Given the description of an element on the screen output the (x, y) to click on. 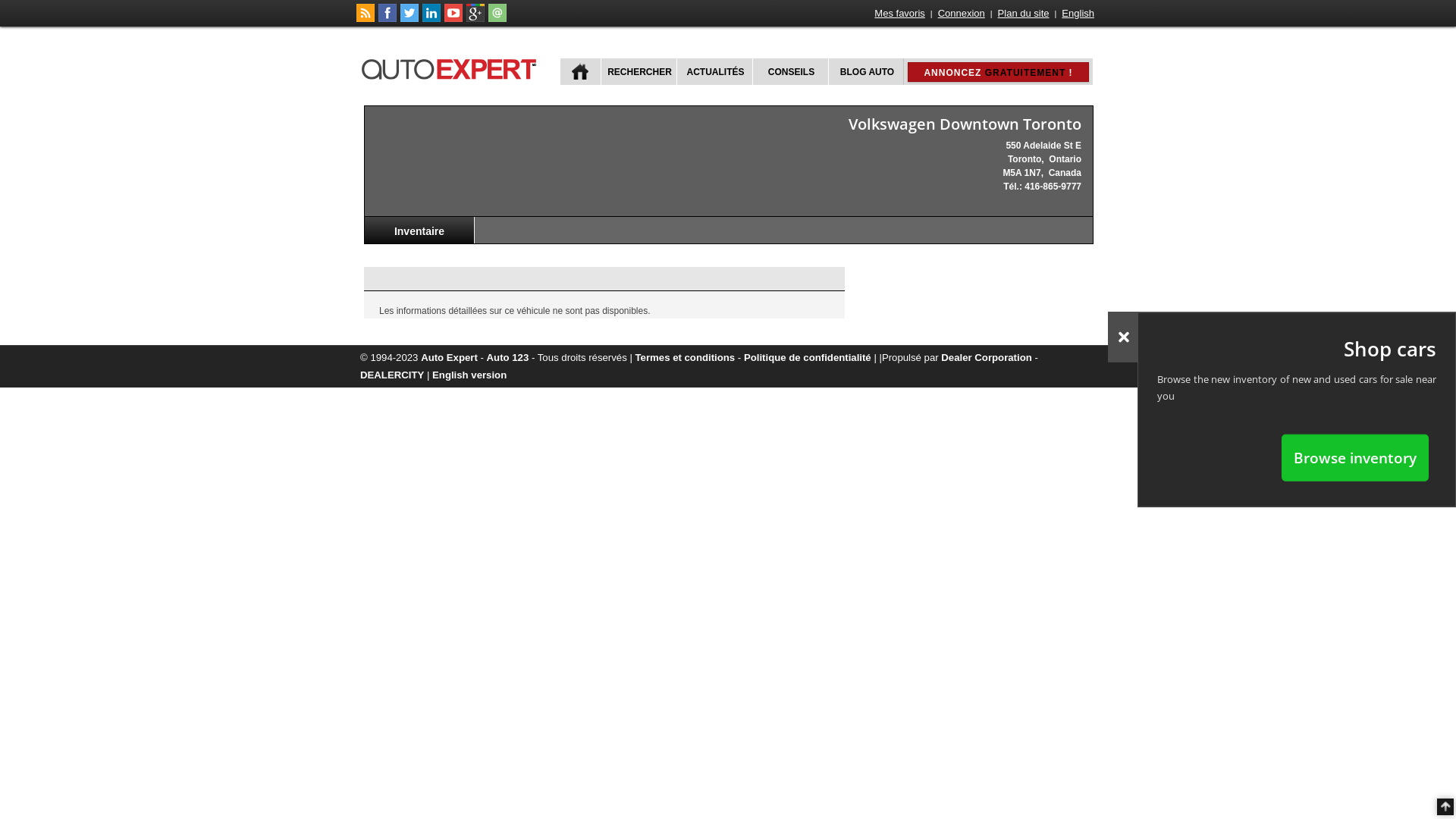
Auto Expert Element type: text (448, 357)
Suivez Publications Le Guide Inc. sur LinkedIn Element type: hover (431, 18)
Suivez autoExpert.ca sur Facebook Element type: hover (387, 18)
BLOG AUTO Element type: text (865, 71)
Dealer Corporation Element type: text (986, 357)
English Element type: text (1077, 13)
English version Element type: text (469, 374)
Suivez autoExpert.ca sur Twitter Element type: hover (409, 18)
Mes favoris Element type: text (898, 13)
CONSEILS Element type: text (789, 71)
Suivez autoExpert.ca sur Google Plus Element type: hover (475, 18)
ANNONCEZ GRATUITEMENT ! Element type: text (997, 71)
Termes et conditions Element type: text (685, 357)
ACCUEIL Element type: text (580, 71)
Joindre autoExpert.ca Element type: hover (497, 18)
Auto 123 Element type: text (507, 357)
Inventaire Element type: text (419, 229)
Connexion Element type: text (961, 13)
Browse inventory Element type: text (1354, 457)
RECHERCHER Element type: text (637, 71)
Suivez autoExpert.ca sur Youtube Element type: hover (453, 18)
autoExpert.ca Element type: text (451, 66)
Plan du site Element type: text (1023, 13)
DEALERCITY Element type: text (391, 374)
